Given the description of an element on the screen output the (x, y) to click on. 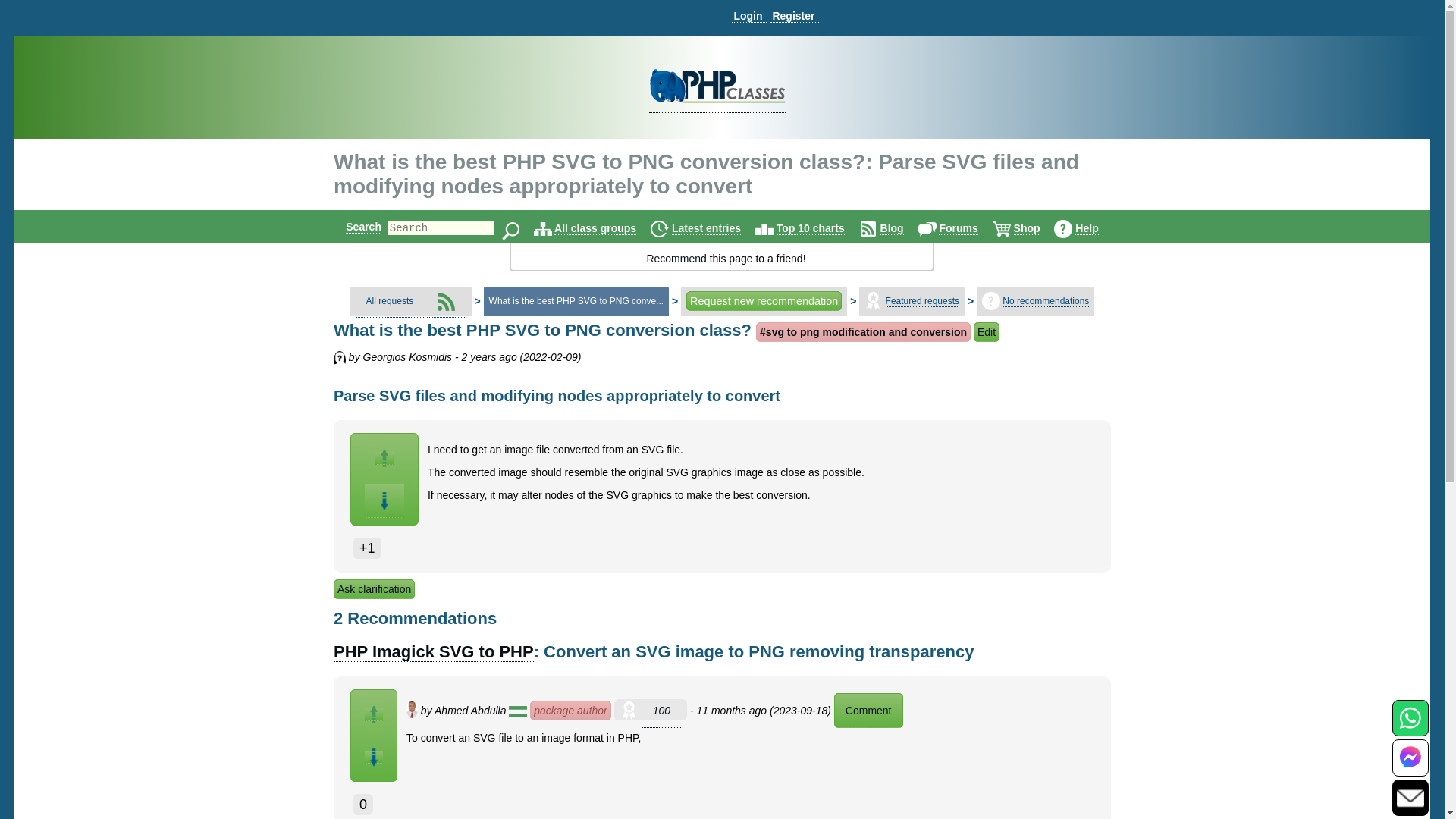
All requests (390, 301)
100 (661, 710)
This request is not clear or is not relevant. (384, 500)
No recommendations (990, 300)
Comment (868, 710)
Contact us using Messenger (1409, 766)
Ask clarification (373, 588)
Forums (957, 228)
Blog (892, 228)
Login (748, 15)
